Given the description of an element on the screen output the (x, y) to click on. 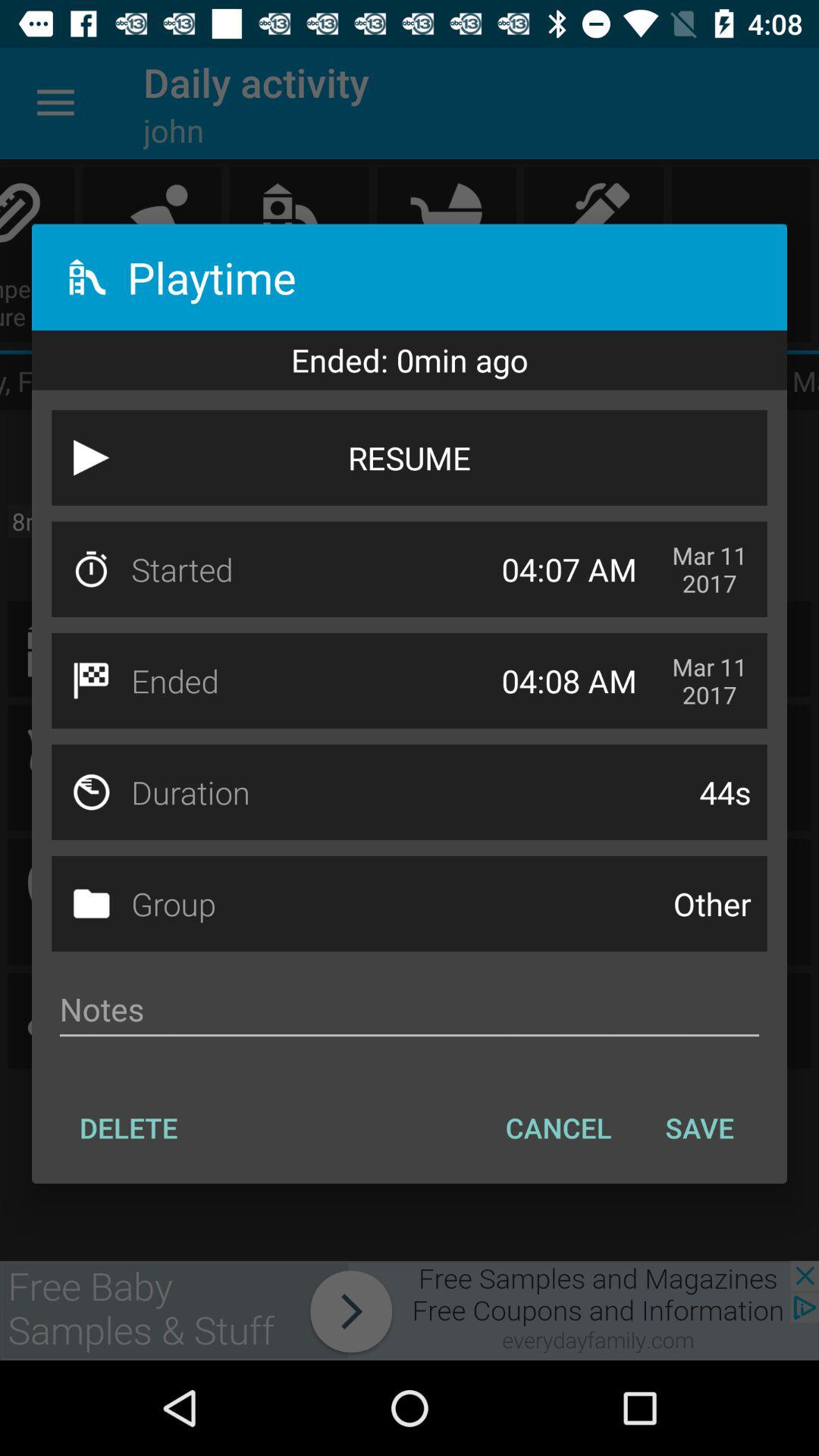
swipe until cancel item (558, 1127)
